Given the description of an element on the screen output the (x, y) to click on. 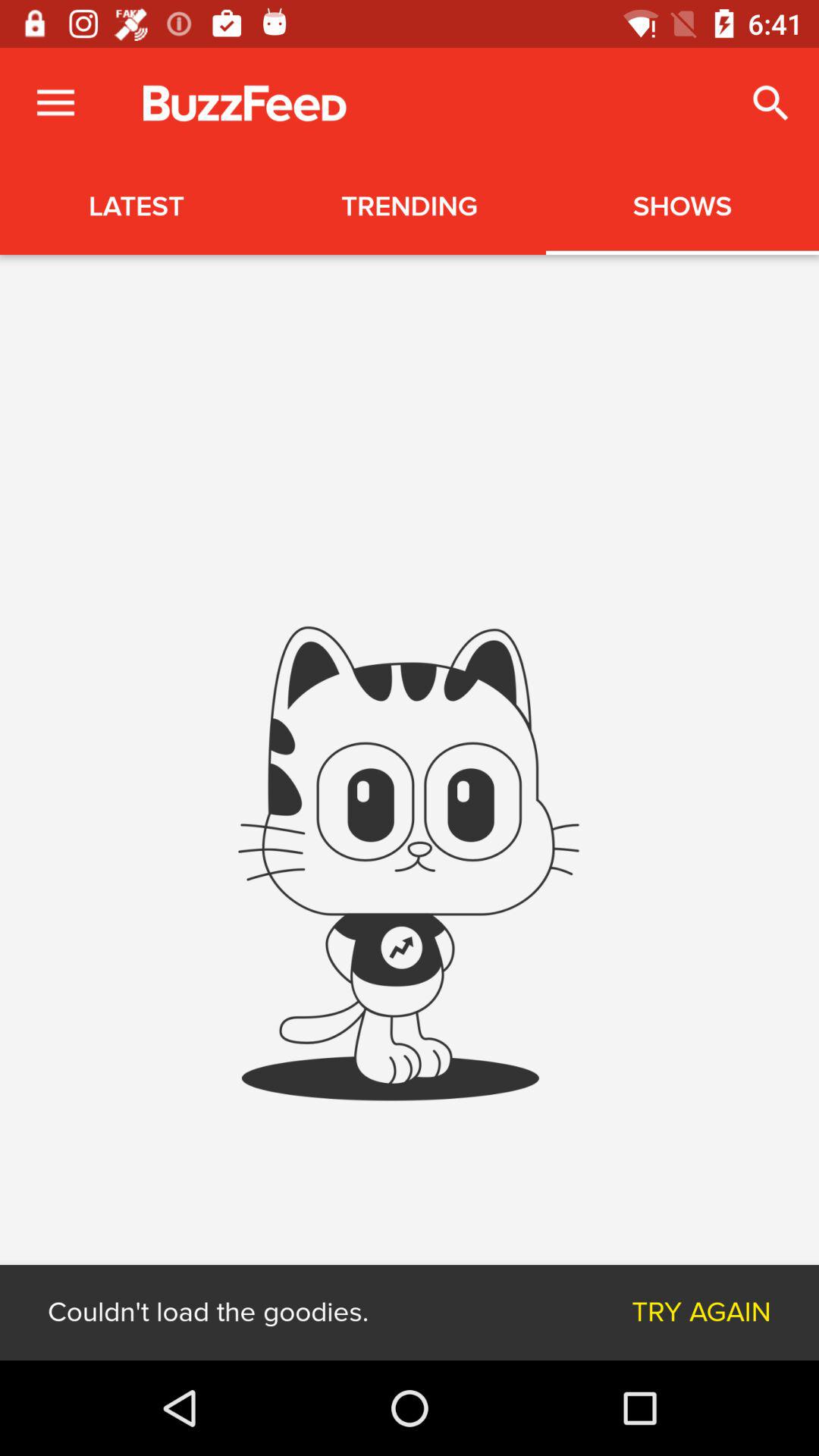
tap try again (701, 1312)
